Given the description of an element on the screen output the (x, y) to click on. 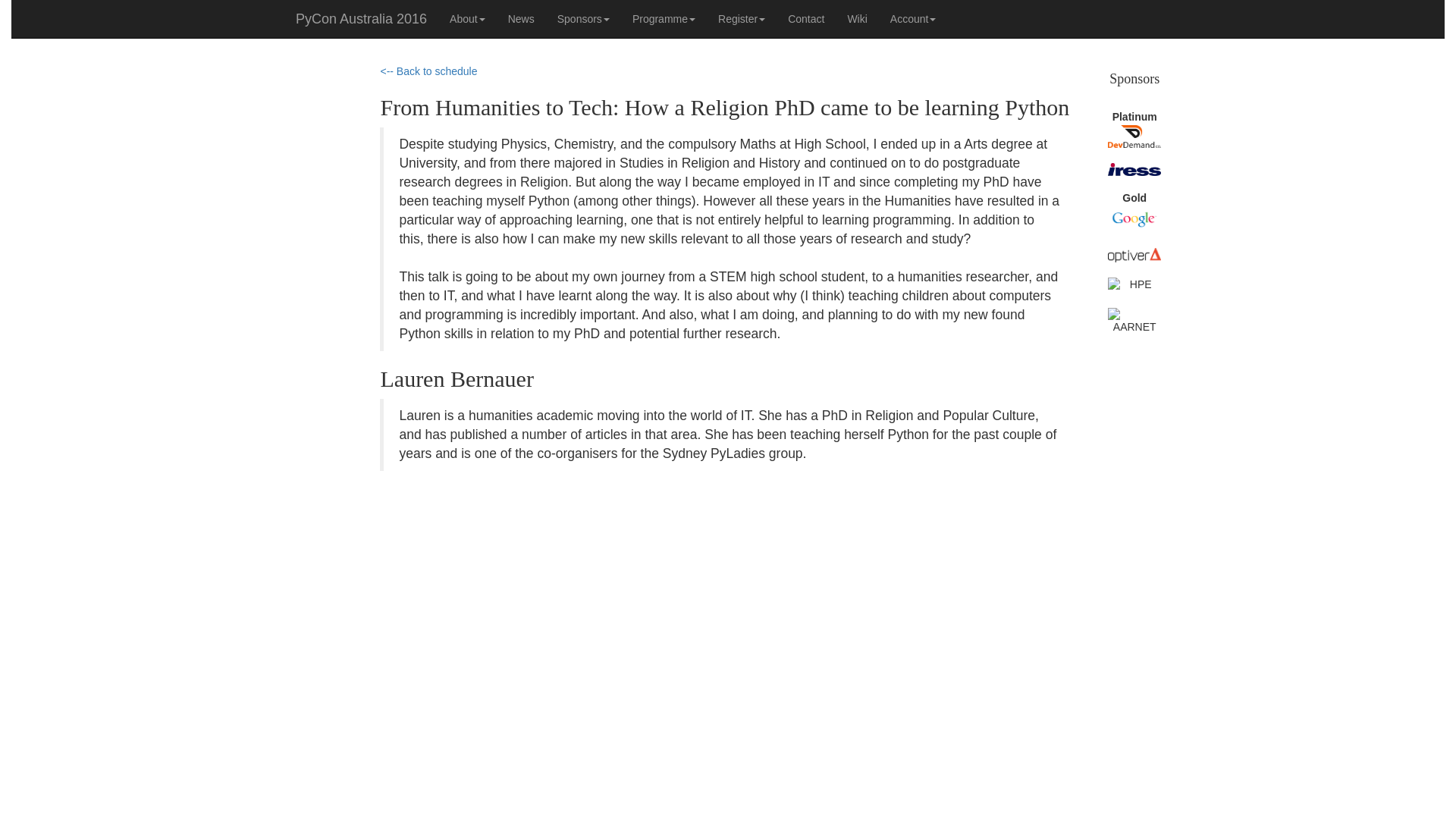
Register (741, 18)
Contact (805, 18)
About (467, 18)
Programme (663, 18)
Sponsors (583, 18)
Account (913, 18)
Google (1134, 219)
PyCon Australia 2016 (360, 18)
Iress (1134, 169)
News (521, 18)
Optiver (1134, 255)
Centric Web Estate (1134, 136)
AARNET (1134, 320)
HPE (1134, 284)
Wiki (856, 18)
